Given the description of an element on the screen output the (x, y) to click on. 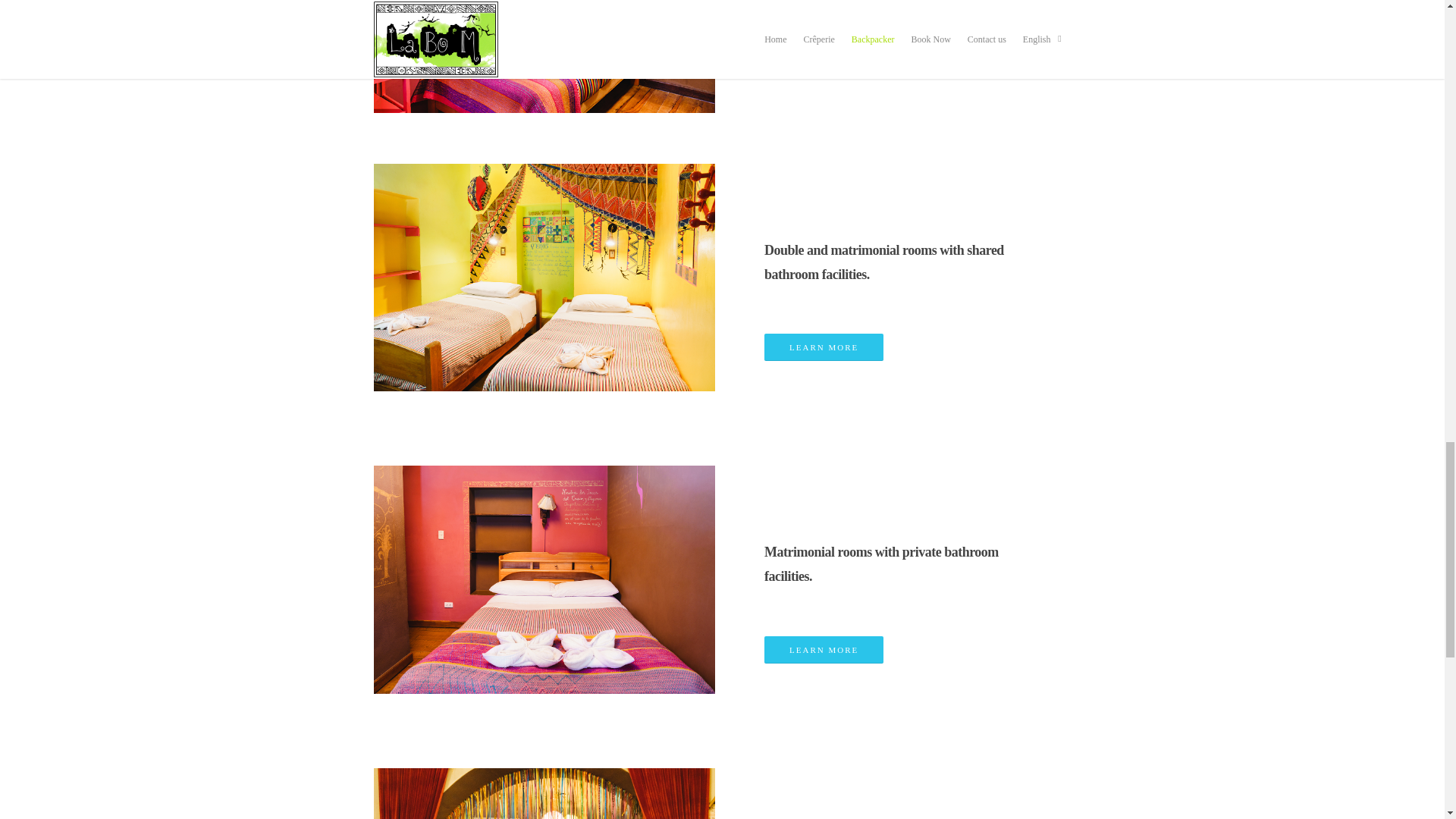
LEARN MORE (823, 347)
LEARN MORE (823, 649)
LEARN MORE (823, 44)
